Given the description of an element on the screen output the (x, y) to click on. 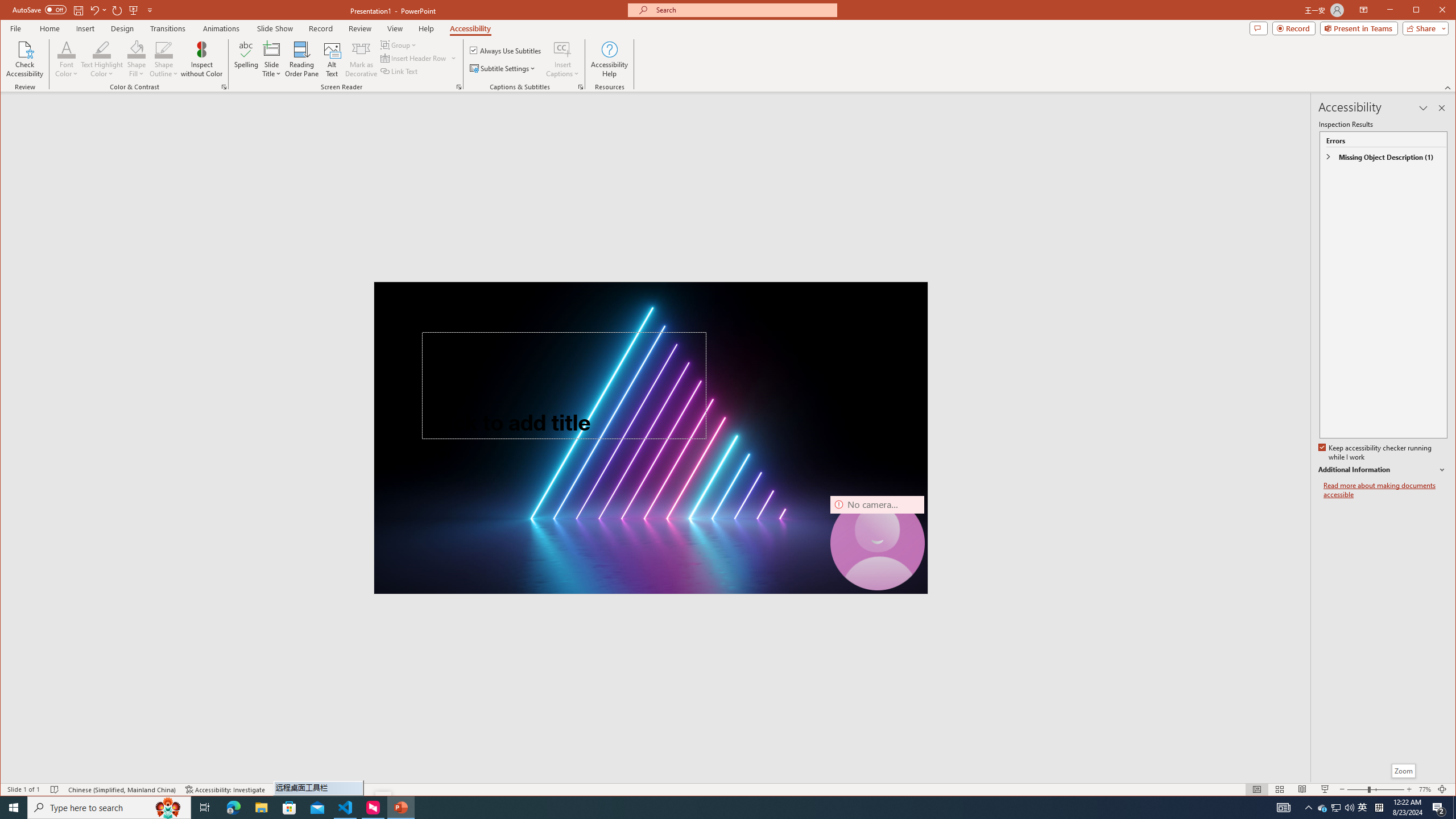
Link Text (399, 70)
